Given the description of an element on the screen output the (x, y) to click on. 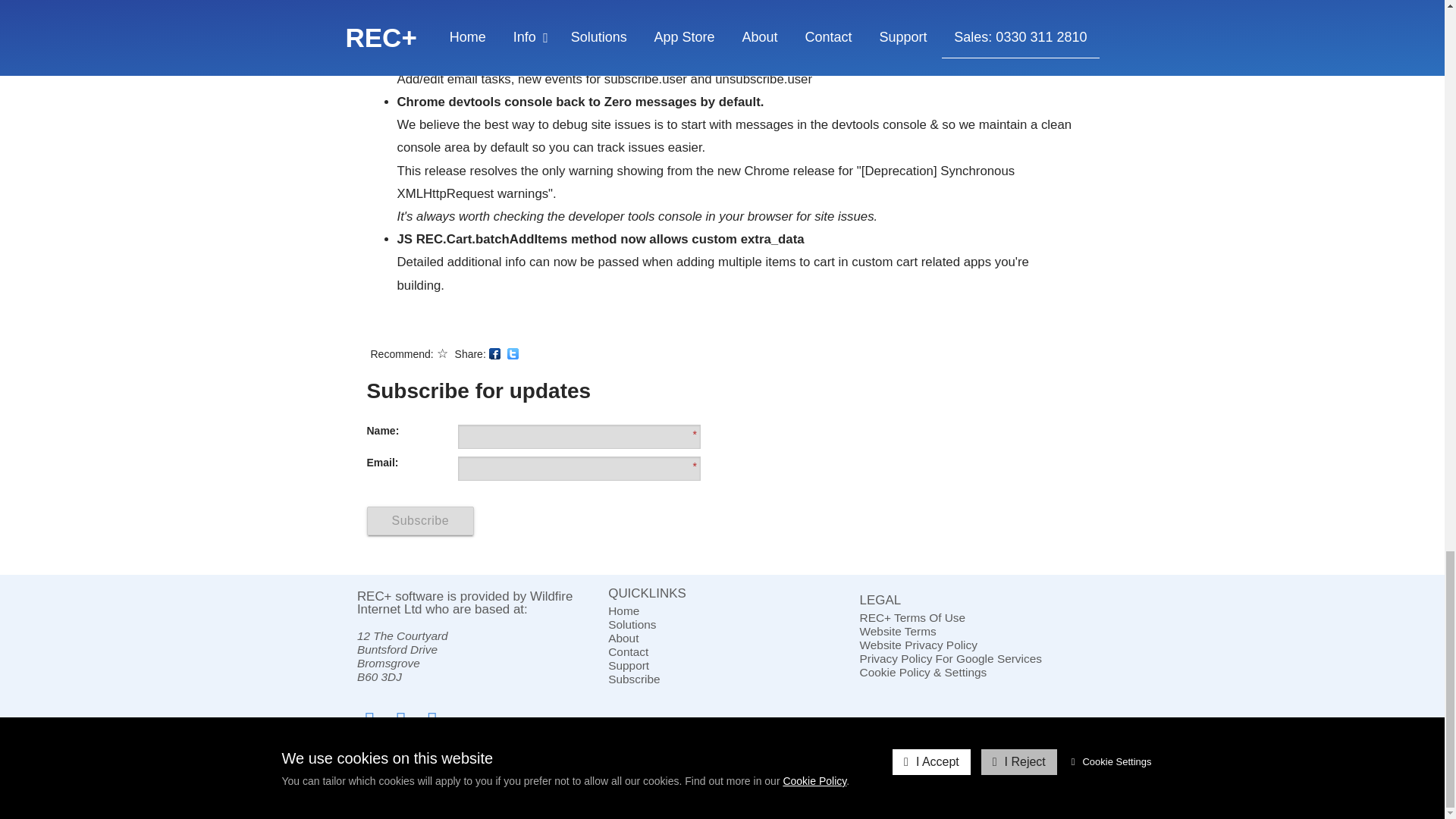
Website Terms (973, 631)
Subscribe (420, 520)
twitter (512, 353)
Home (721, 611)
About (721, 638)
Subscribe (721, 679)
Contact (721, 652)
Solutions (721, 624)
Solutions (721, 624)
Support (721, 665)
